Given the description of an element on the screen output the (x, y) to click on. 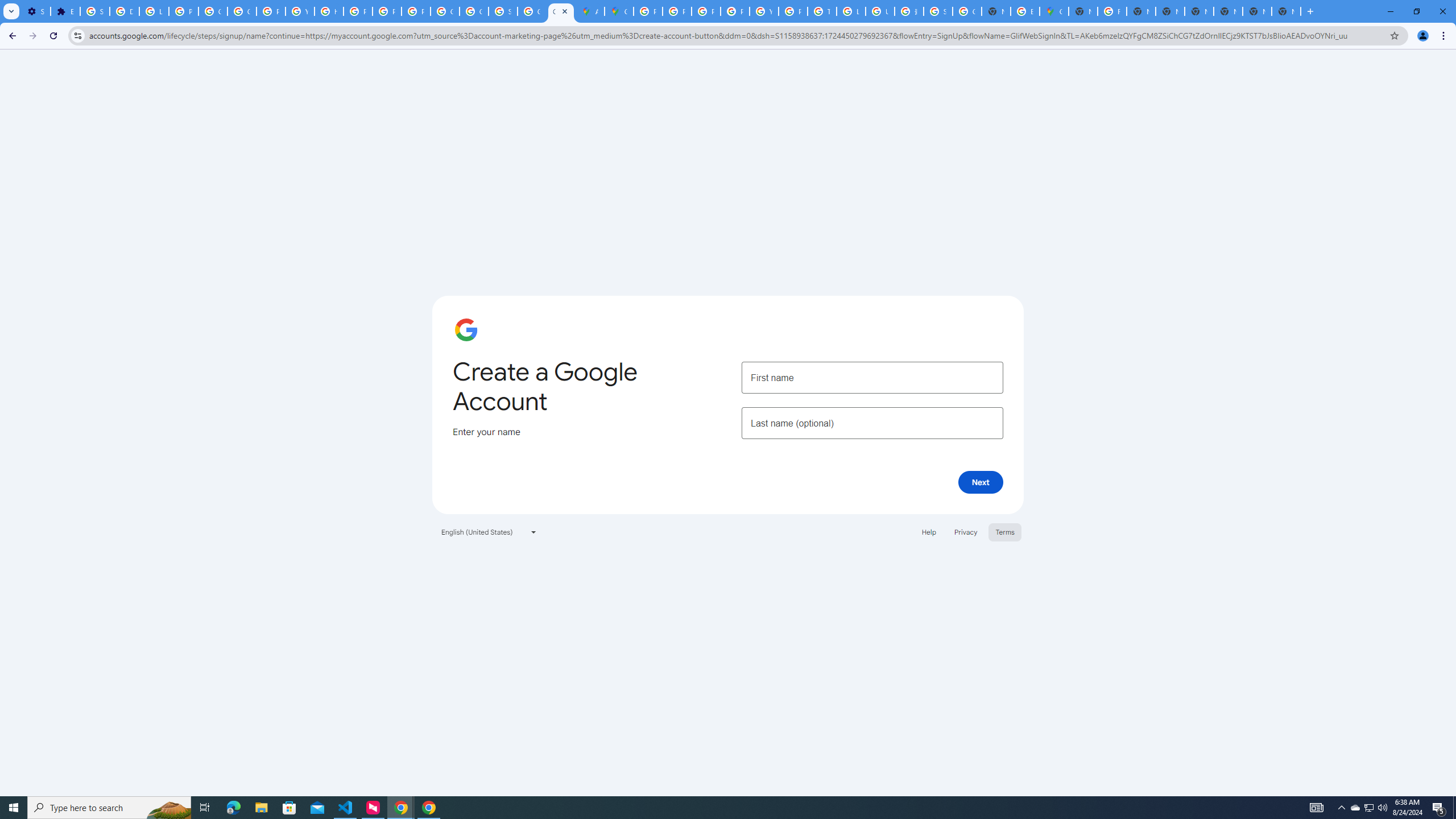
Help (928, 531)
Sign in - Google Accounts (938, 11)
Restore (1416, 11)
Back (10, 35)
https://scholar.google.com/ (327, 11)
Privacy Help Center - Policies Help (677, 11)
Forward (32, 35)
